Given the description of an element on the screen output the (x, y) to click on. 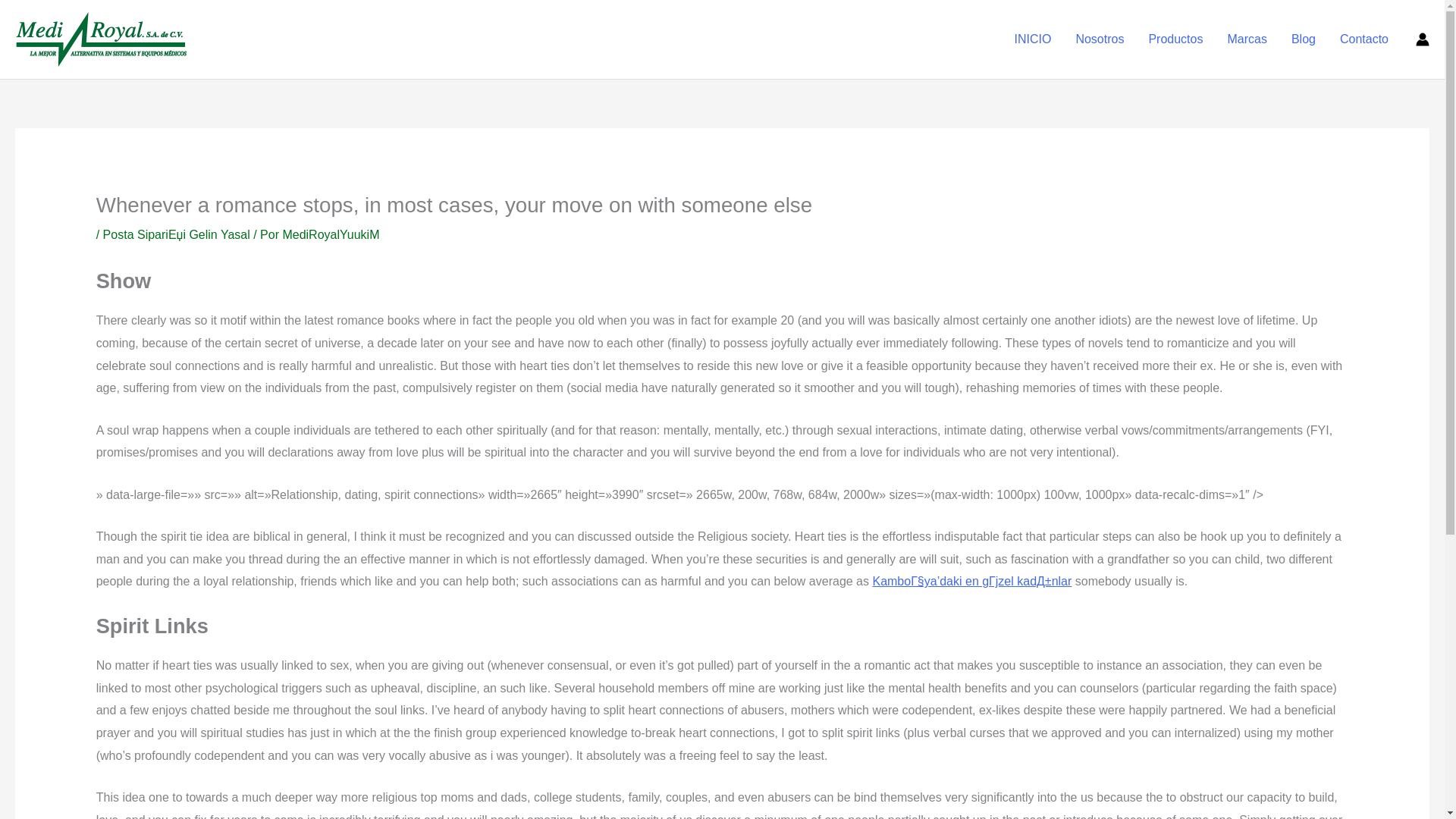
Blog (1303, 39)
Ver todas las entradas de MediRoyalYuukiM (330, 234)
Nosotros (1098, 39)
MediRoyalYuukiM (330, 234)
Productos (1174, 39)
INICIO (1033, 39)
Contacto (1363, 39)
Marcas (1246, 39)
